Given the description of an element on the screen output the (x, y) to click on. 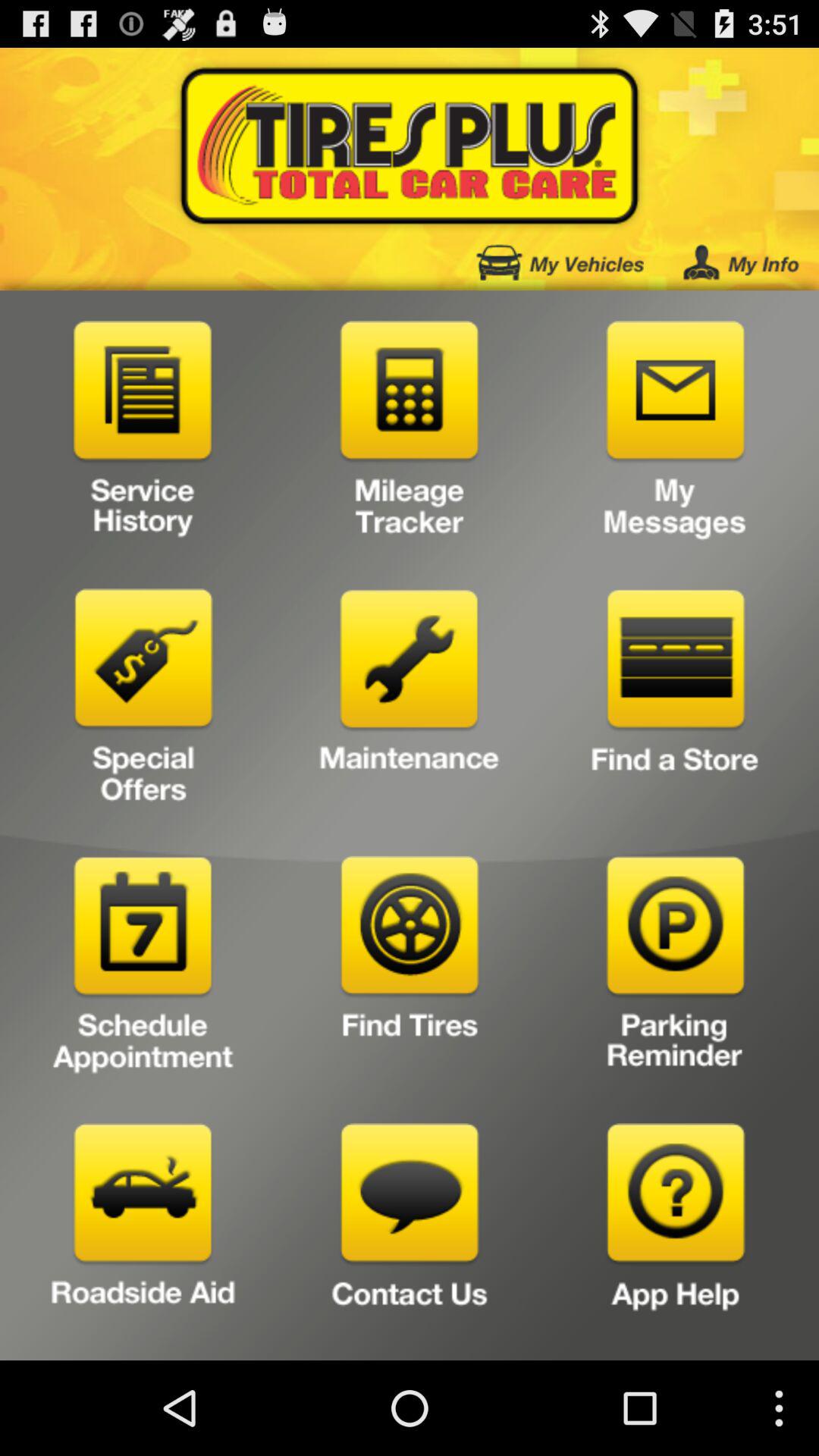
select to schedule appointment (142, 968)
